Given the description of an element on the screen output the (x, y) to click on. 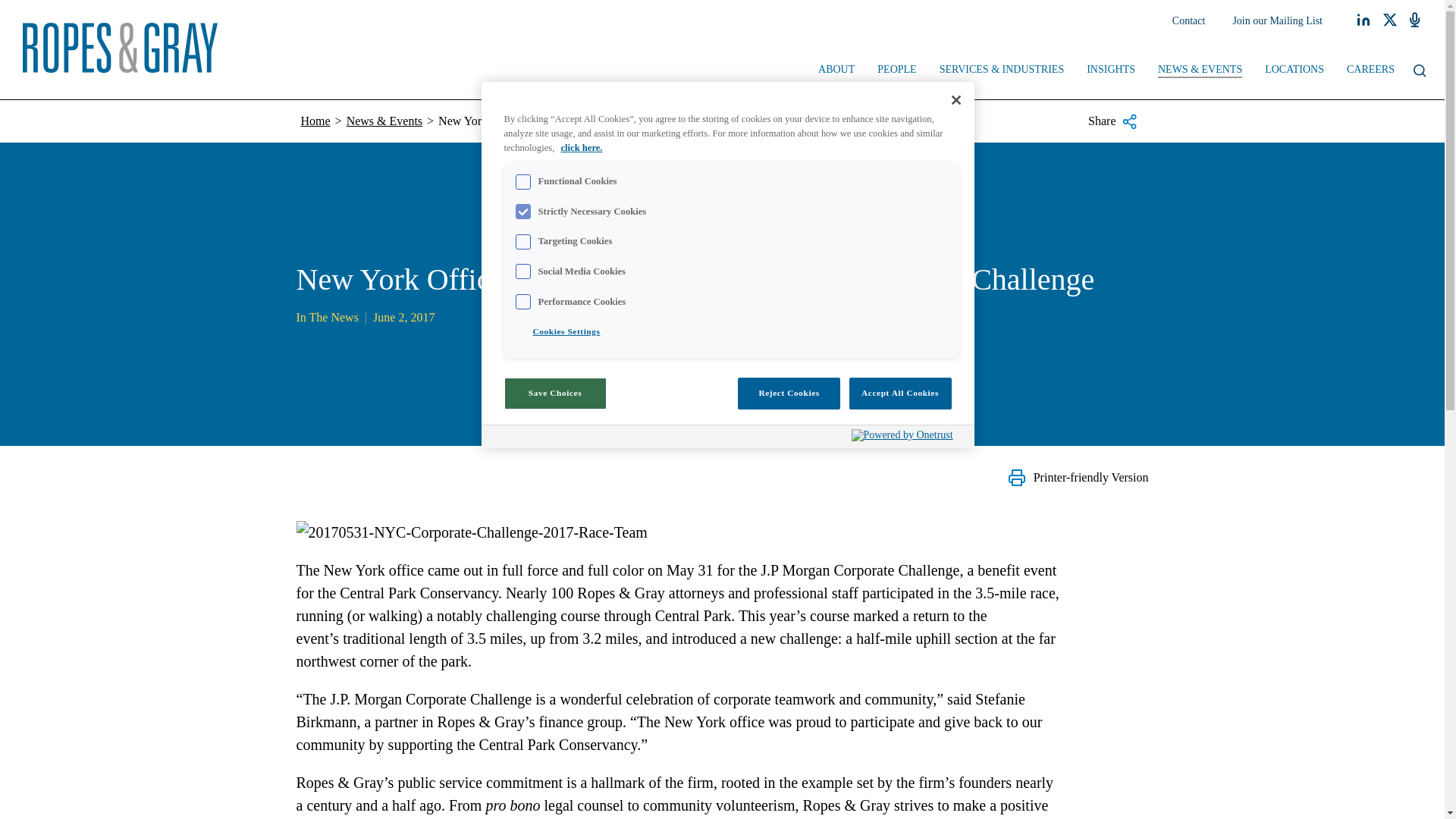
ABOUT (836, 70)
Contact (1189, 21)
CAREERS (1370, 70)
Home (314, 121)
LOCATIONS (1294, 70)
Join our Mailing List (1277, 21)
Printer-friendly Version (1077, 477)
PEOPLE (896, 70)
INSIGHTS (1111, 70)
Share (1112, 121)
